Given the description of an element on the screen output the (x, y) to click on. 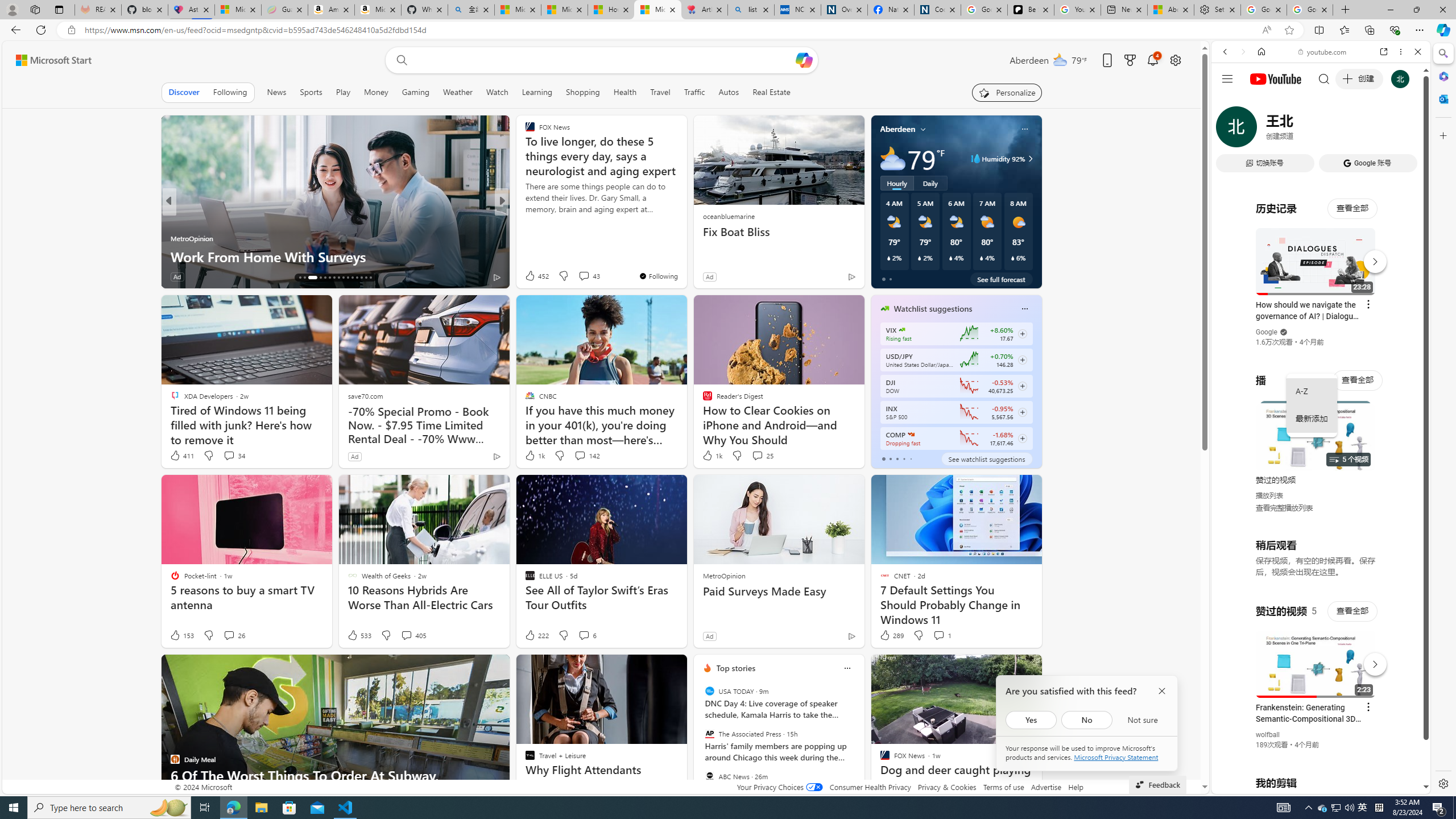
Open link in new tab (1383, 51)
See more (1027, 668)
Arthritis: Ask Health Professionals (703, 9)
285 Like (532, 276)
Terms of use (1003, 786)
save70.com (364, 395)
#you (1315, 659)
Skip to footer (46, 59)
Shopping (582, 92)
Traffic (694, 92)
